Given the description of an element on the screen output the (x, y) to click on. 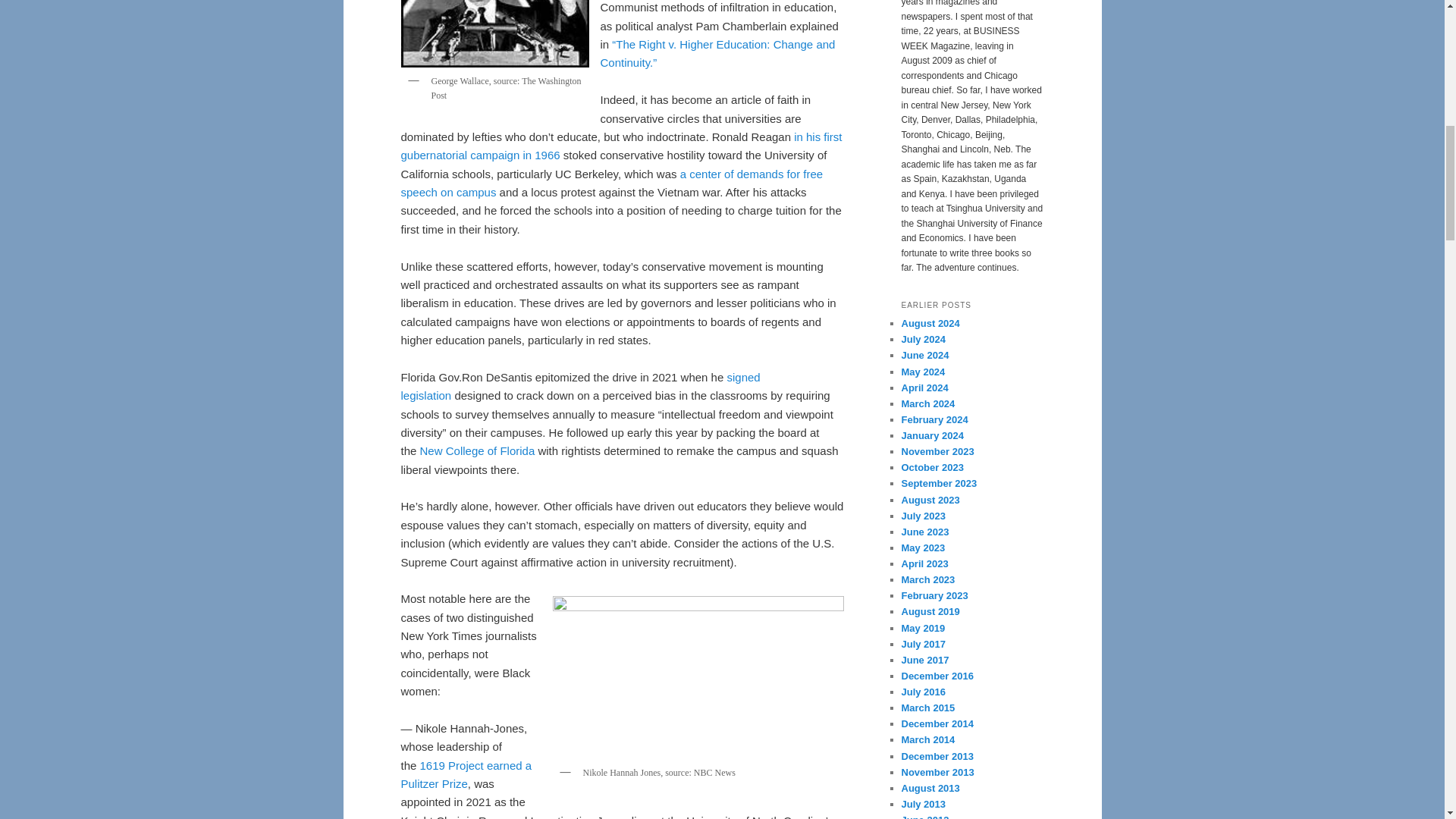
1619 Project earned a Pulitzer Prize (465, 774)
a center of demands for free speech on campus (611, 183)
New College of Florida (477, 450)
signed legislation (580, 386)
in his first gubernatorial campaign in 1966 (620, 145)
